Given the description of an element on the screen output the (x, y) to click on. 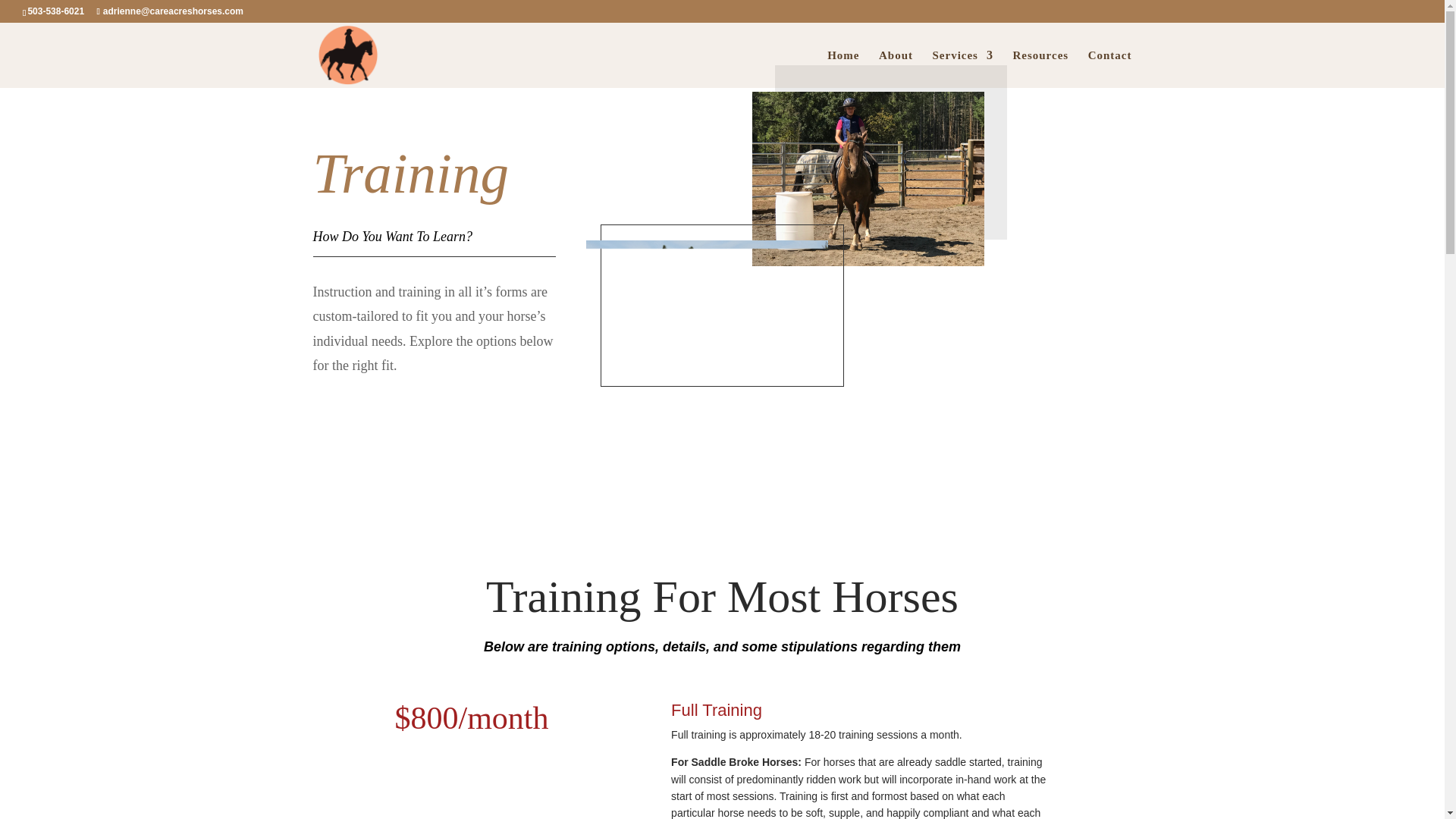
About (895, 68)
Contact (1109, 68)
Resources (1039, 68)
DSCN0213 (706, 320)
Services (961, 68)
